Given the description of an element on the screen output the (x, y) to click on. 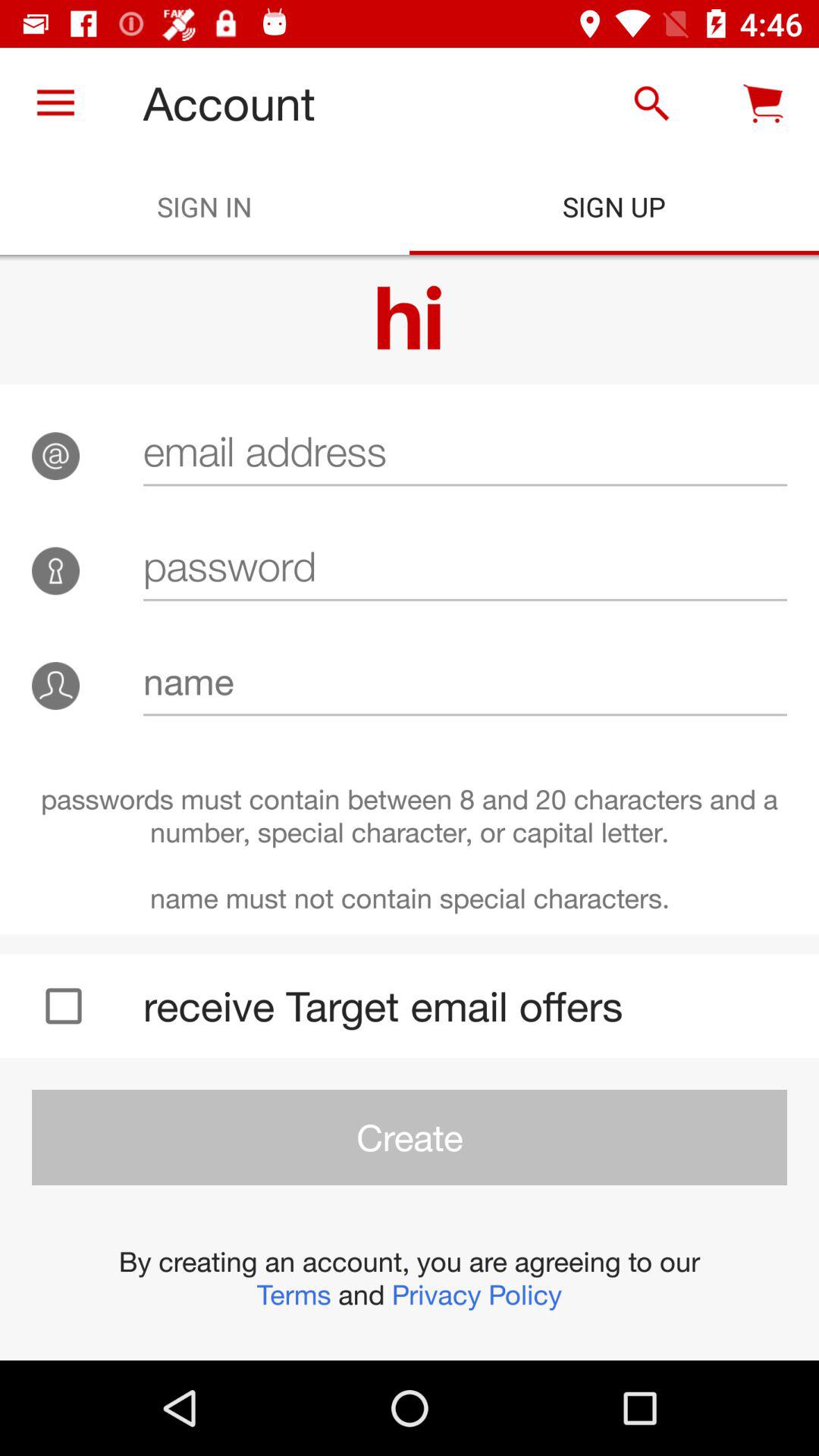
turn off item above the by creating an icon (409, 1137)
